Given the description of an element on the screen output the (x, y) to click on. 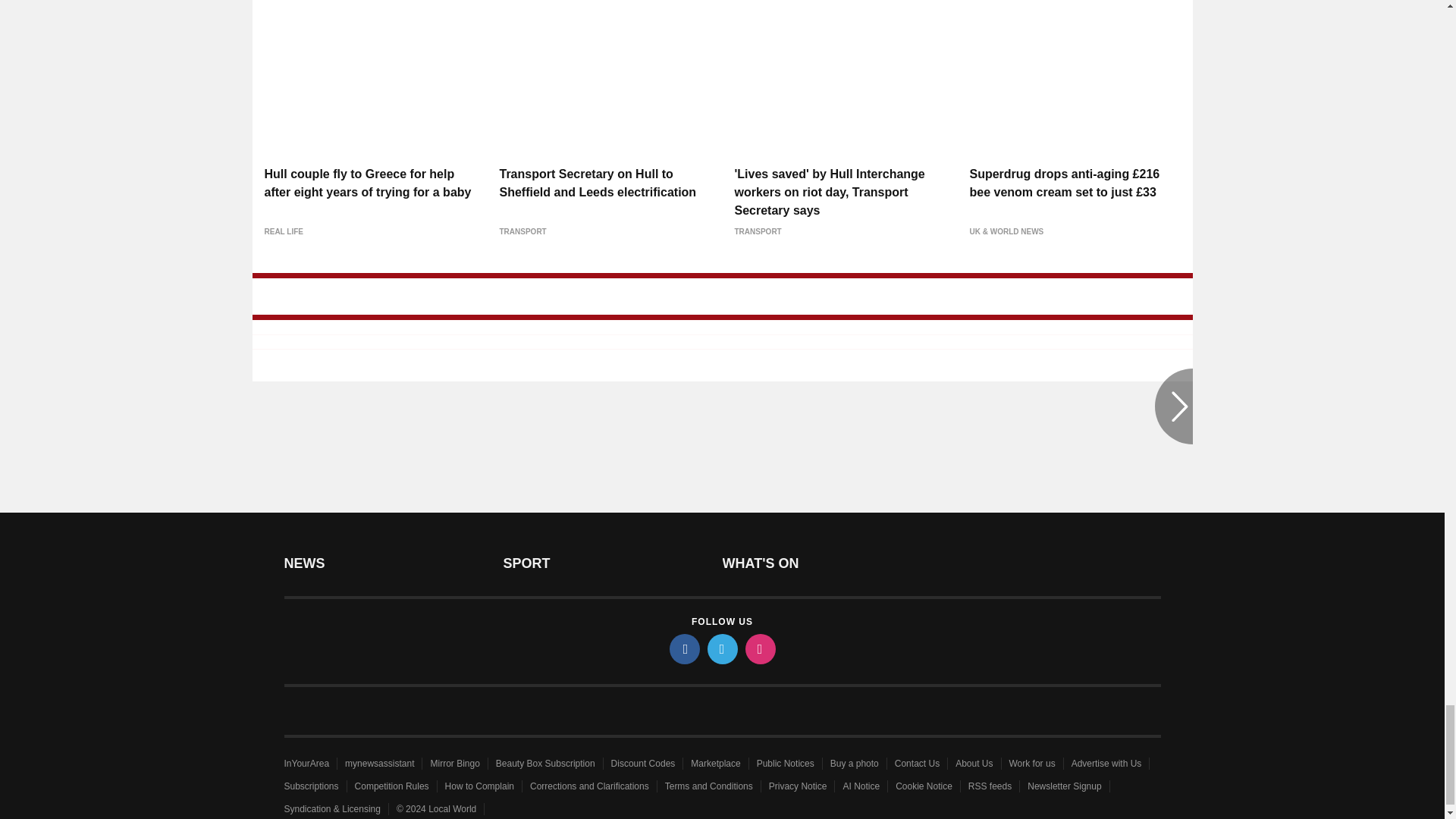
twitter (721, 648)
facebook (683, 648)
instagram (759, 648)
